Given the description of an element on the screen output the (x, y) to click on. 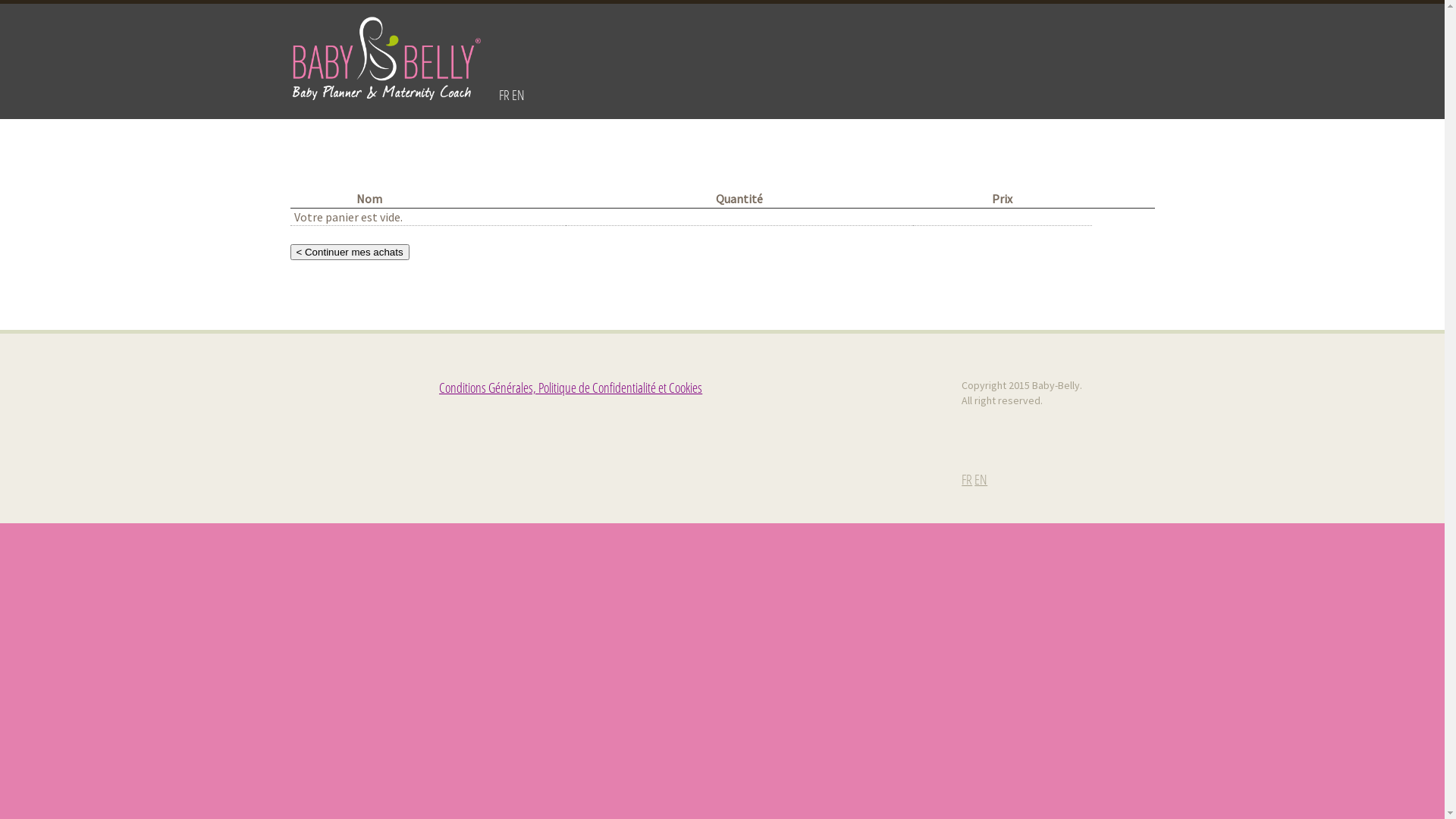
EN Element type: text (980, 479)
FR Element type: text (966, 479)
FR Element type: text (503, 94)
EN Element type: text (517, 94)
< Continuer mes achats Element type: text (348, 252)
